Given the description of an element on the screen output the (x, y) to click on. 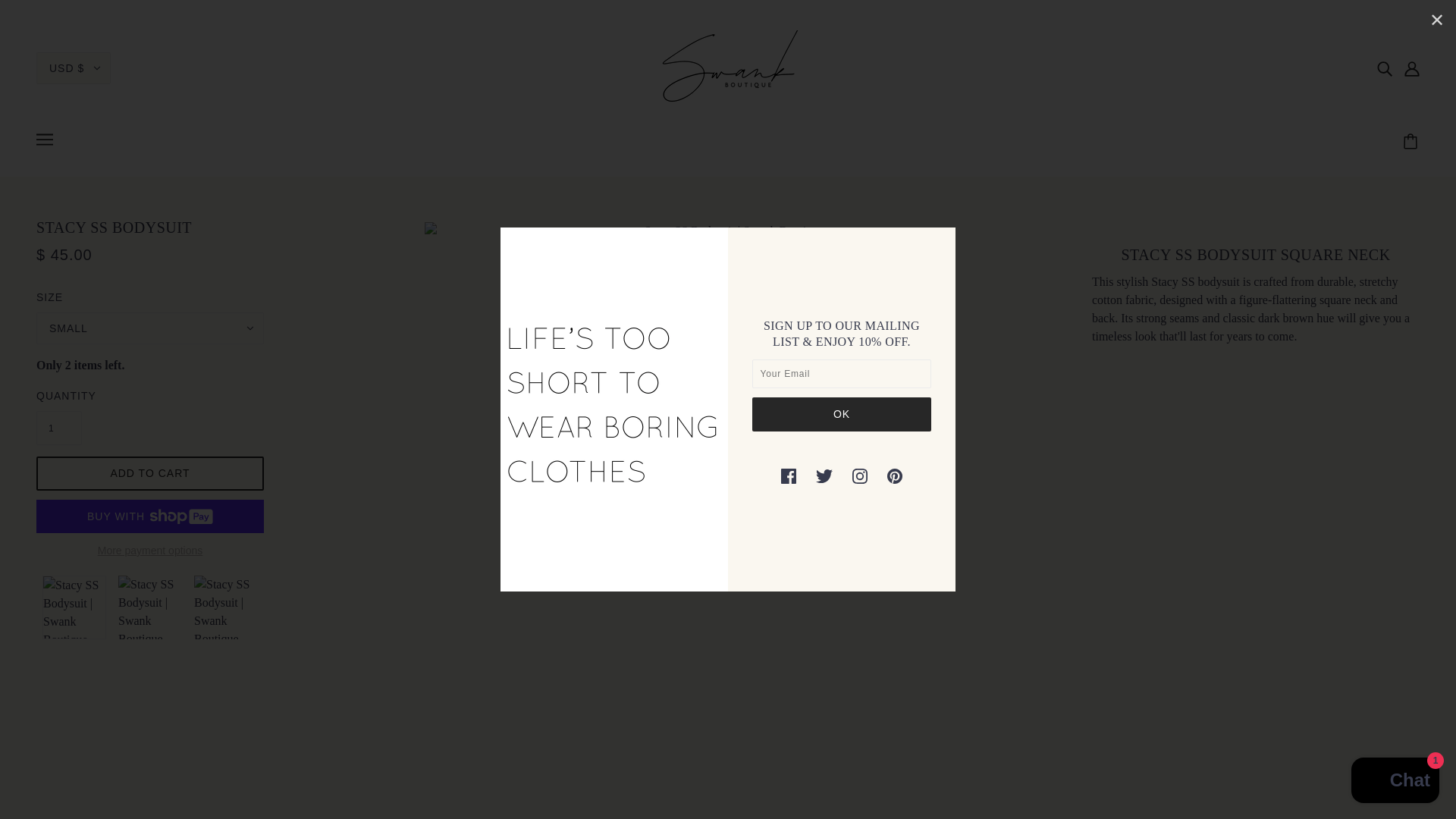
Ok (841, 414)
1 (58, 428)
Shopify online store chat (1395, 781)
Swank Boutique (727, 66)
